Given the description of an element on the screen output the (x, y) to click on. 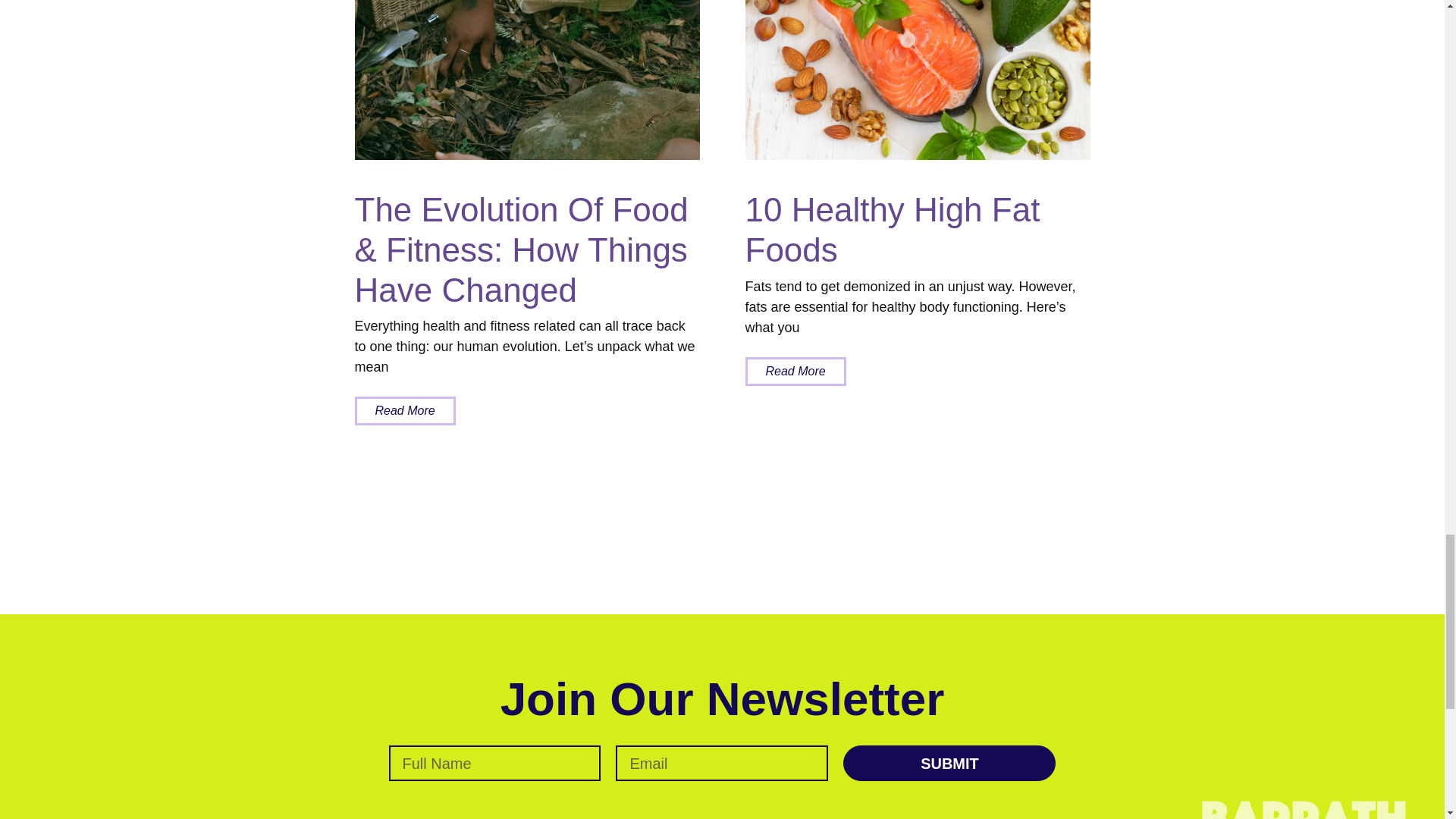
Read More (794, 371)
Read More (405, 410)
10 Healthy High Fat Foods (891, 229)
SUBMIT (949, 763)
